Given the description of an element on the screen output the (x, y) to click on. 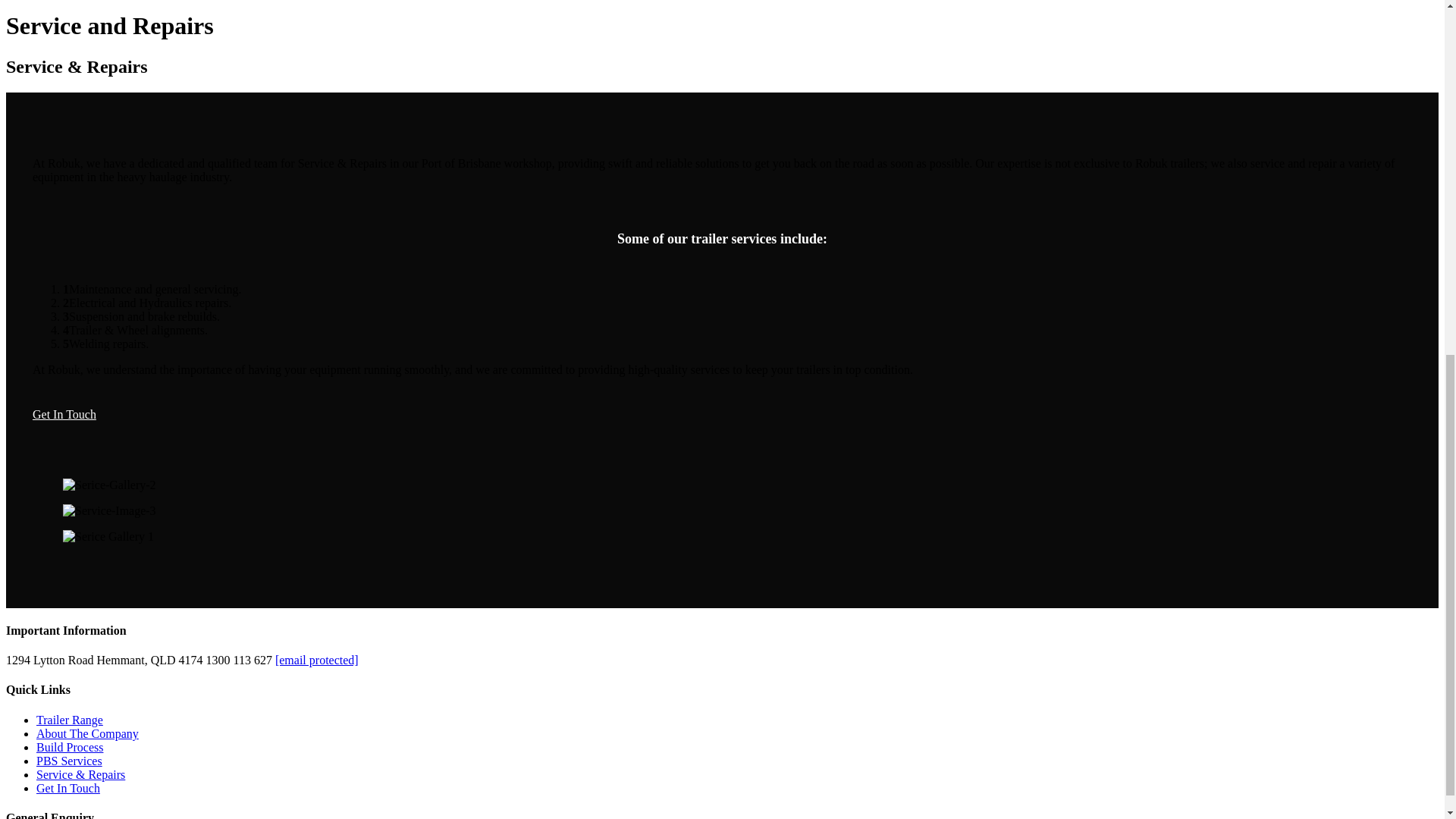
Get In Touch (64, 413)
PBS Aust (64, 413)
Serice Gallery 1 (108, 536)
Service-Image-3 (108, 510)
Serice-Gallery-2 (108, 485)
